Given the description of an element on the screen output the (x, y) to click on. 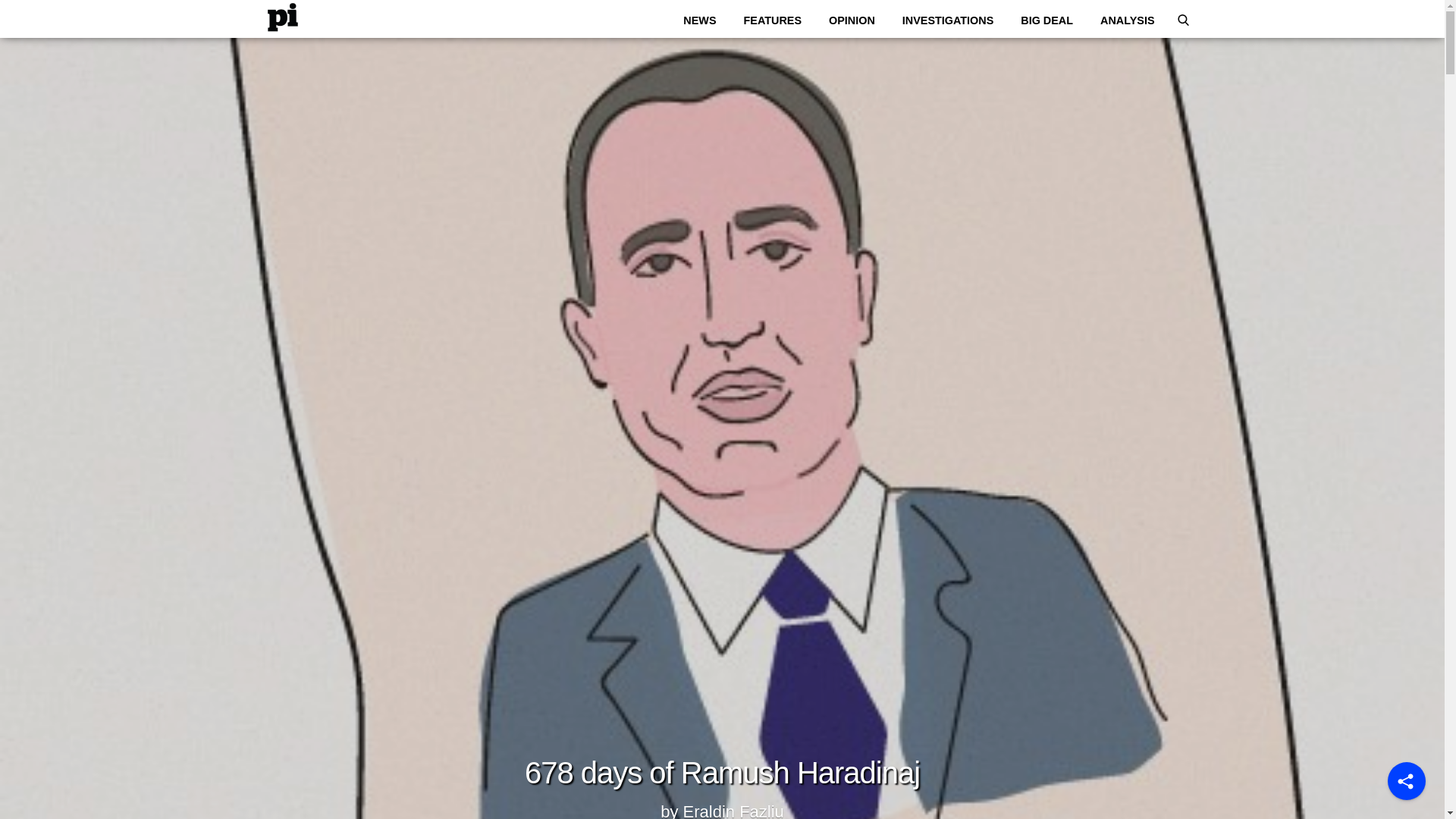
Eraldin Fazliu (733, 807)
INVESTIGATIONS (947, 20)
NEWS (699, 20)
OPINION (851, 20)
BIG DEAL (1046, 20)
FEATURES (773, 20)
ANALYSIS (1127, 20)
Posts by Eraldin Fazliu (733, 807)
